Given the description of an element on the screen output the (x, y) to click on. 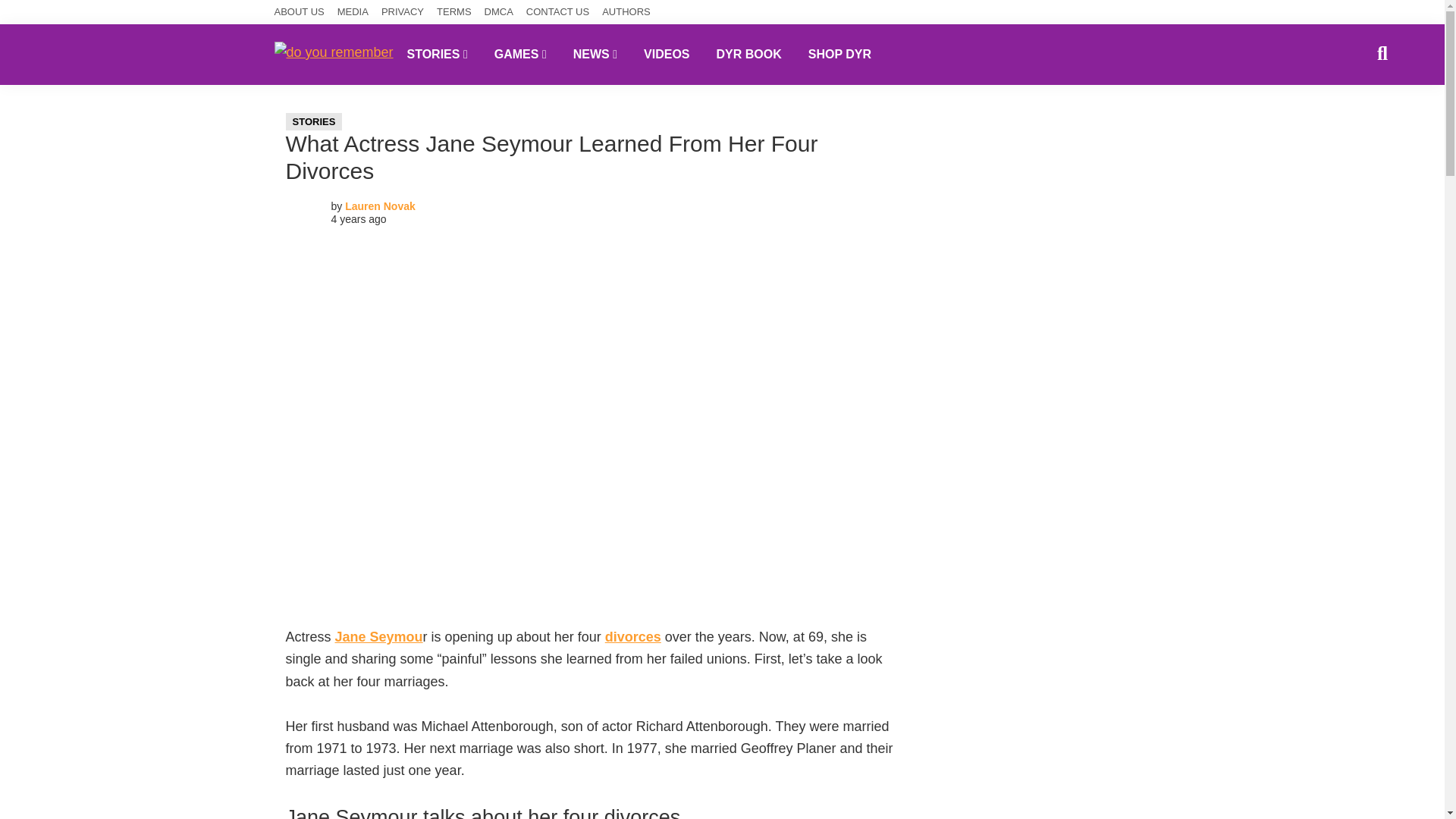
NEWS (595, 54)
Jane Seymou (378, 636)
SHOP DYR (839, 54)
ABOUT US (299, 12)
DYR BOOK (748, 54)
STORIES (437, 54)
AUTHORS (626, 12)
DMCA (498, 12)
TERMS (453, 12)
MEDIA (352, 12)
STORIES (314, 121)
Lauren Novak (379, 205)
CONTACT US (557, 12)
VIDEOS (665, 54)
